Given the description of an element on the screen output the (x, y) to click on. 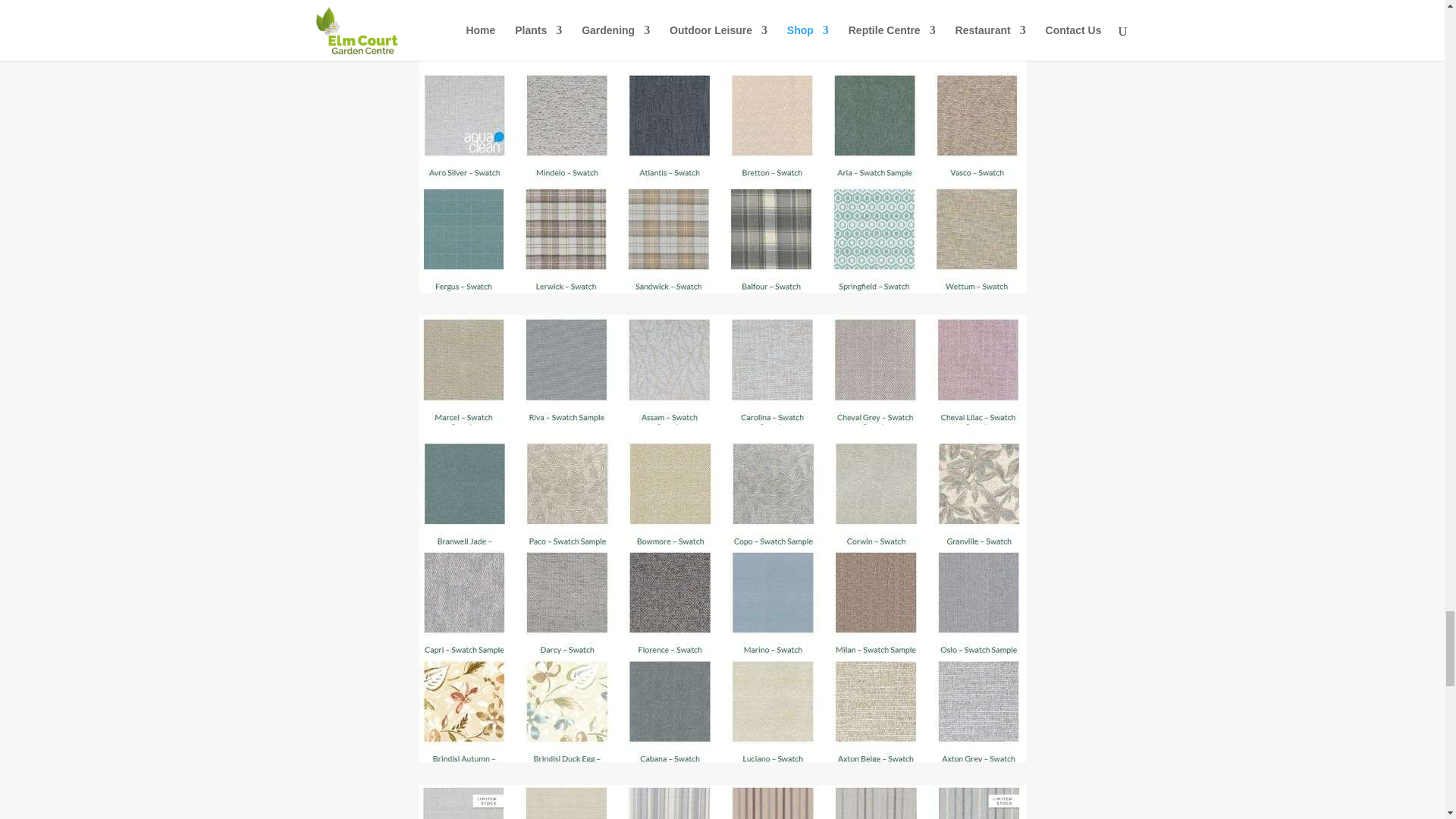
fabric choice laura small (722, 801)
